Given the description of an element on the screen output the (x, y) to click on. 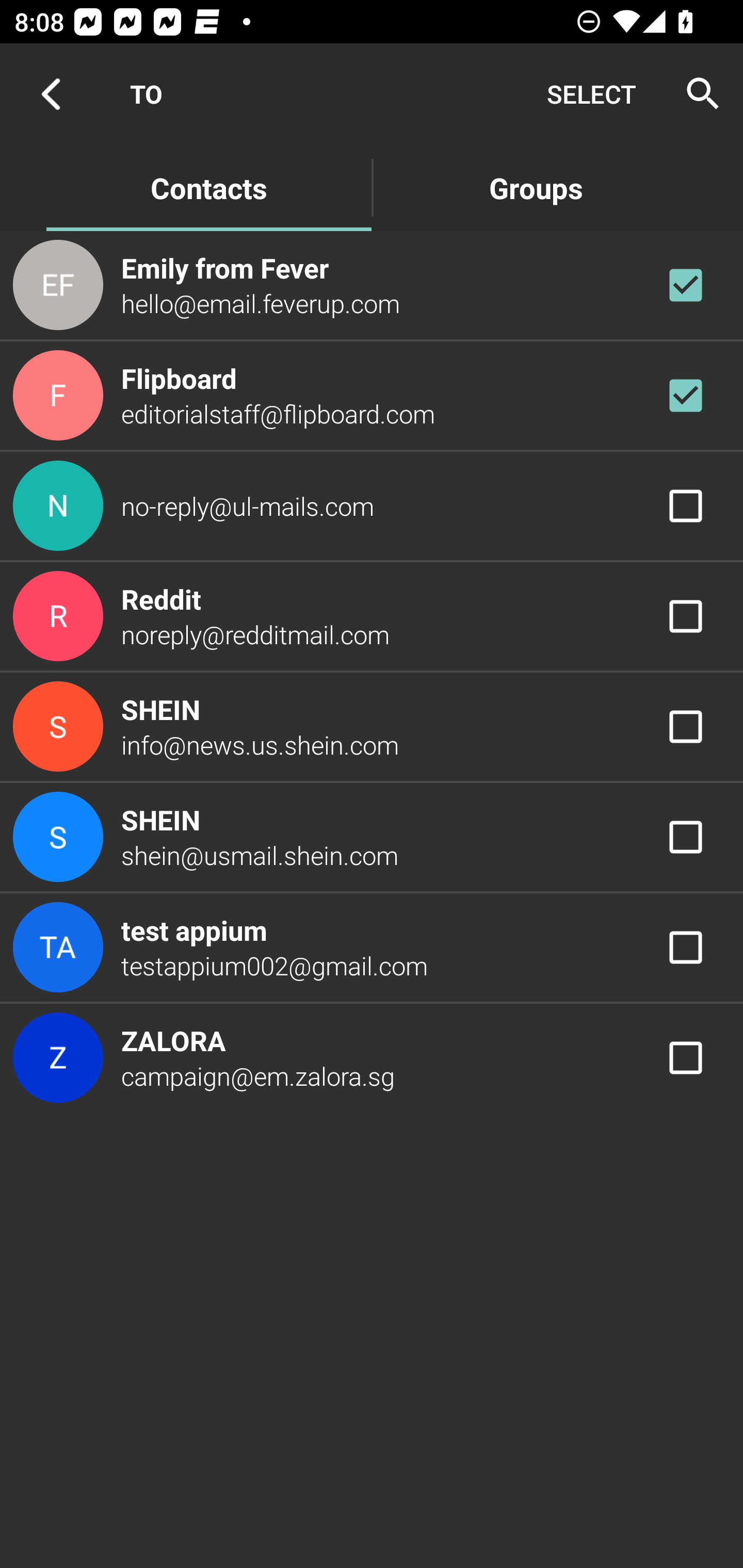
Navigate up (50, 93)
SELECT (590, 93)
Search (696, 93)
Contacts (208, 187)
Groups (535, 187)
Emily from Fever hello@email.feverup.com (371, 284)
Flipboard editorialstaff@flipboard.com (371, 395)
no-reply@ul-mails.com (371, 505)
Reddit noreply@redditmail.com (371, 616)
SHEIN info@news.us.shein.com (371, 726)
SHEIN shein@usmail.shein.com (371, 836)
test appium testappium002@gmail.com (371, 947)
ZALORA campaign@em.zalora.sg (371, 1057)
